Given the description of an element on the screen output the (x, y) to click on. 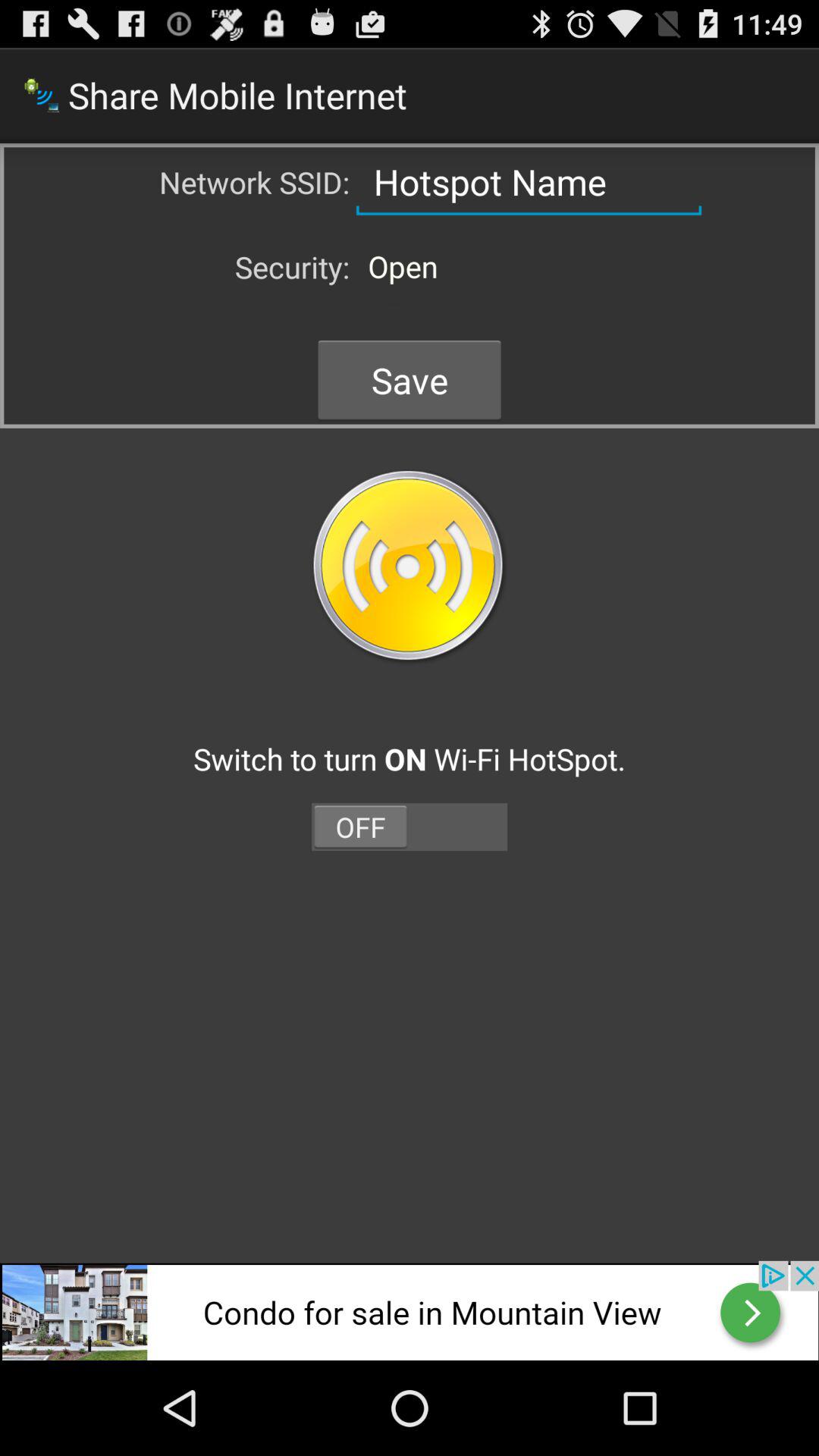
on/off switch (409, 826)
